Given the description of an element on the screen output the (x, y) to click on. 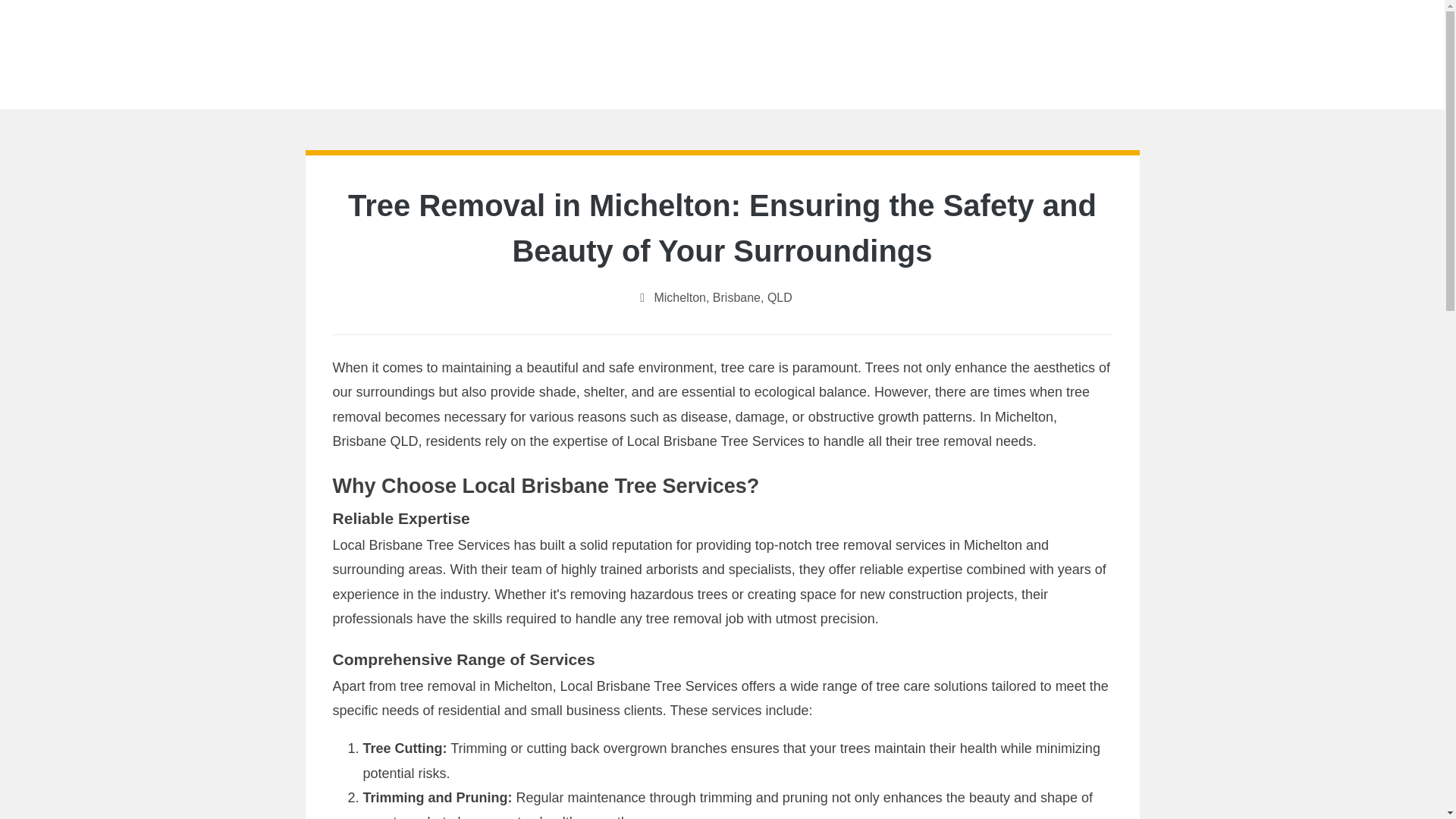
Michelton (678, 297)
TerraMacs (721, 40)
Brisbane (736, 297)
QLD (779, 297)
